Given the description of an element on the screen output the (x, y) to click on. 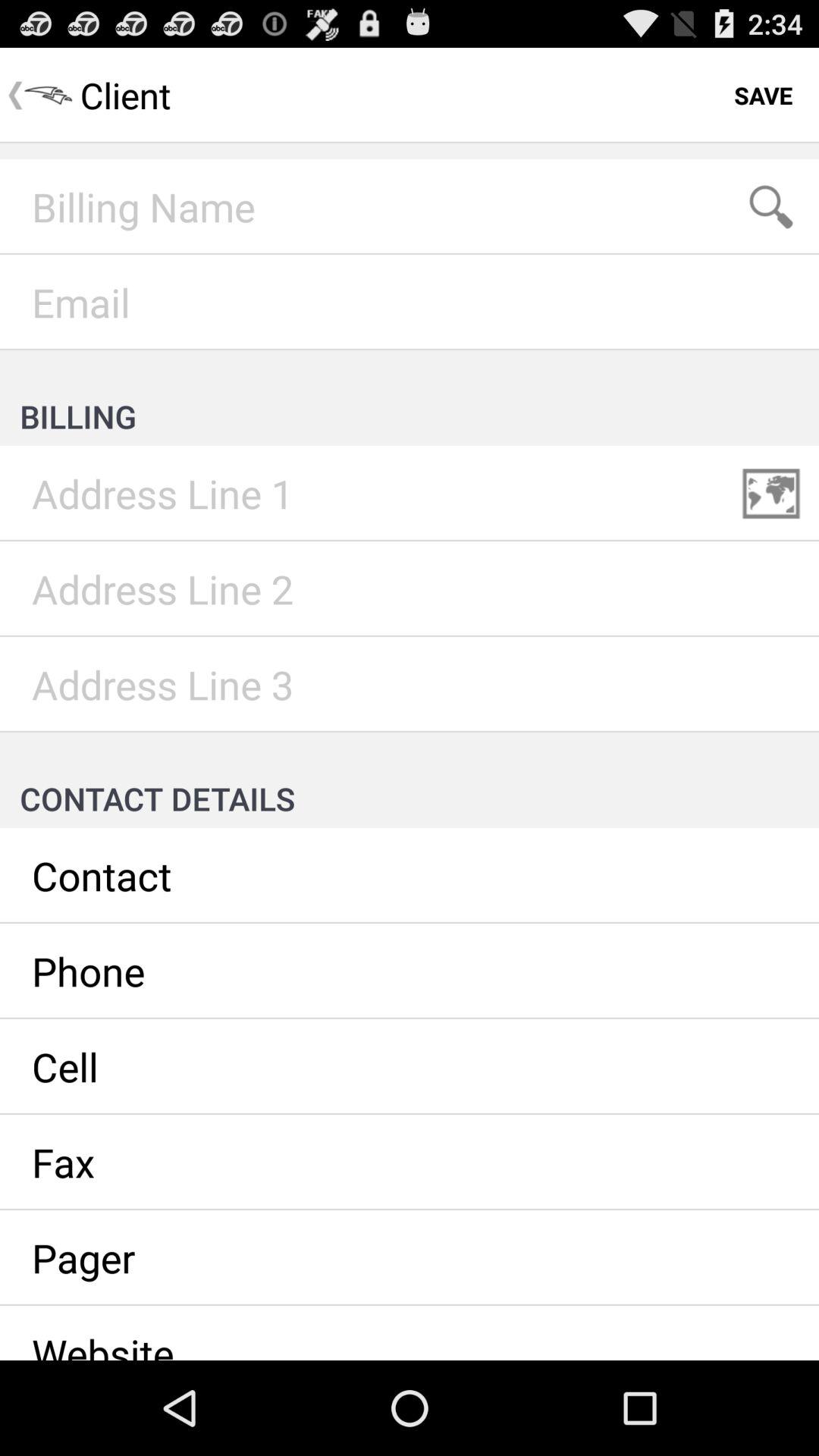
click to enter your website information (409, 1332)
